Given the description of an element on the screen output the (x, y) to click on. 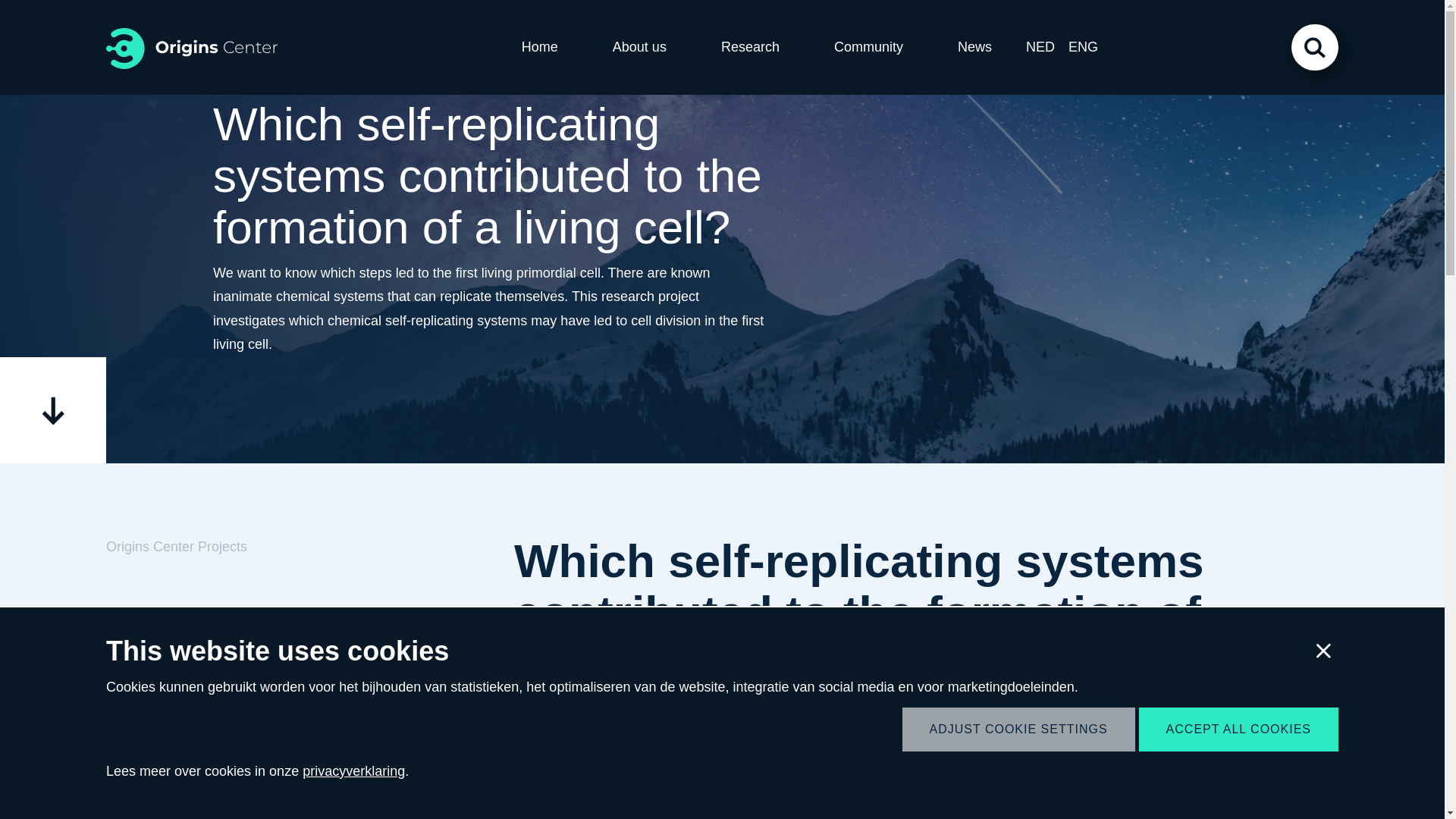
Origins Center Projects (256, 757)
